Given the description of an element on the screen output the (x, y) to click on. 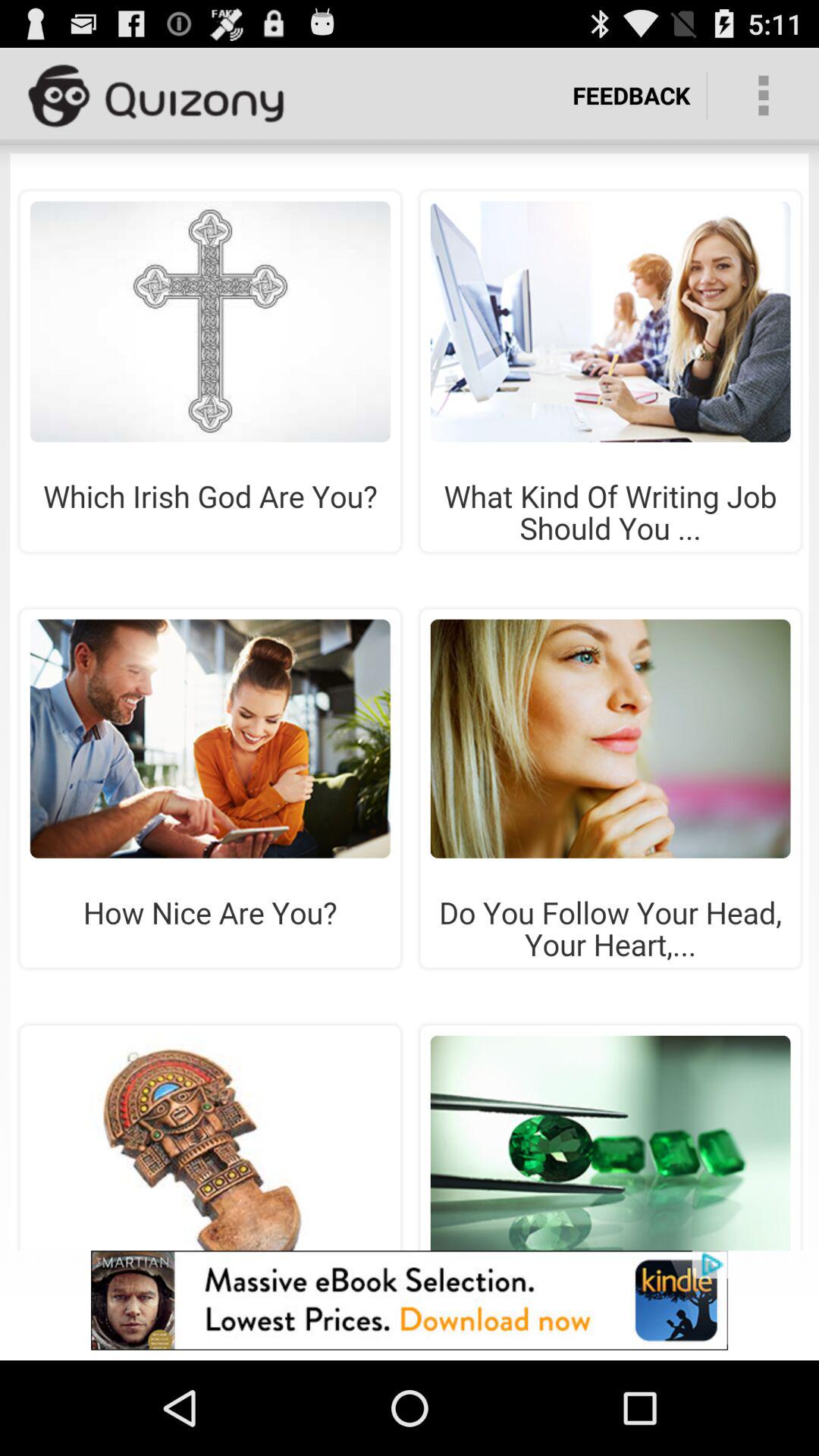
select the add (409, 701)
